Given the description of an element on the screen output the (x, y) to click on. 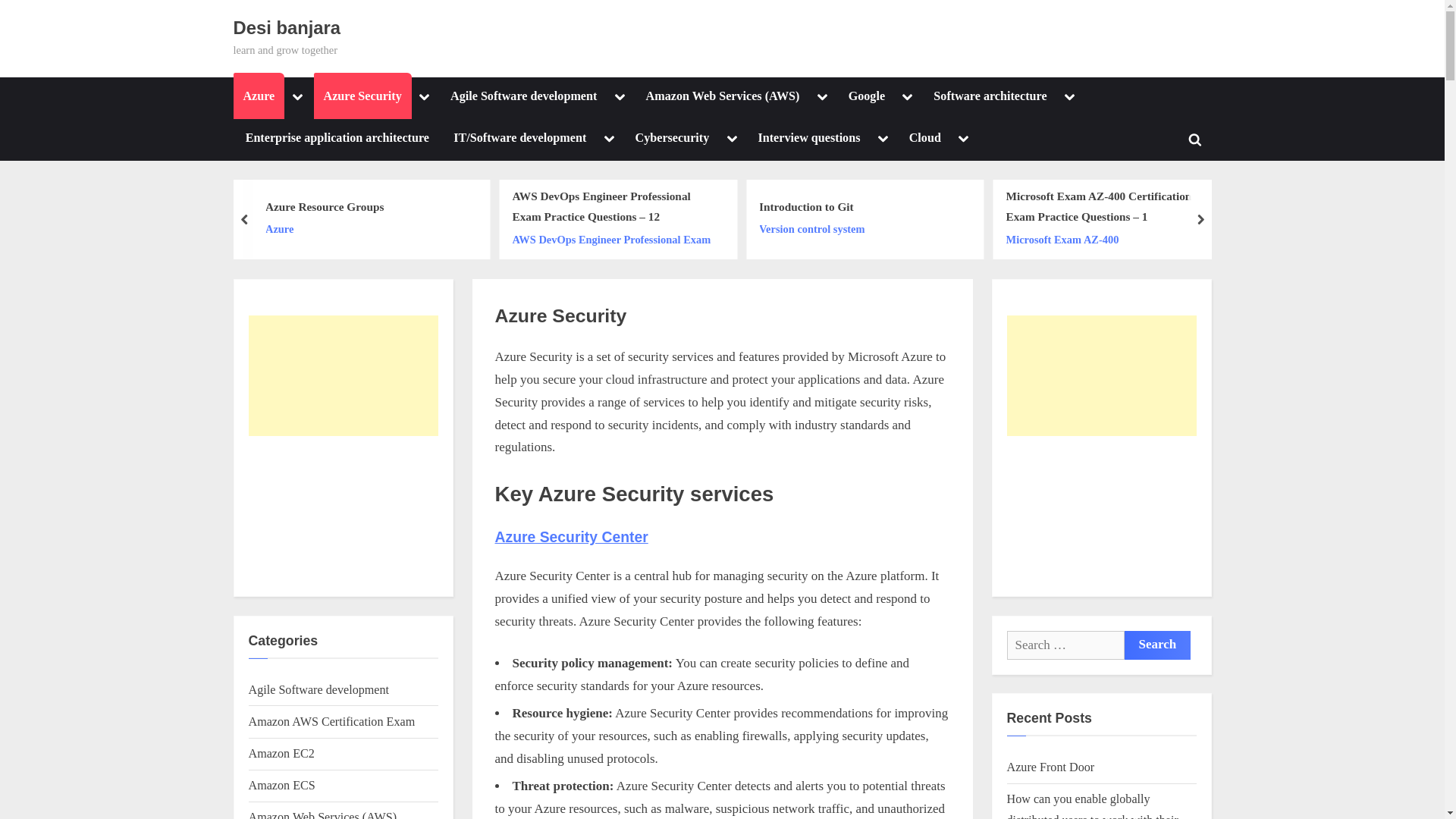
Advertisement (1101, 514)
Azure (258, 97)
Desi banjara (286, 27)
Search (1157, 645)
Azure Security (363, 97)
Search (1157, 645)
Advertisement (343, 514)
Toggle sub-menu (424, 97)
Toggle sub-menu (296, 97)
